Given the description of an element on the screen output the (x, y) to click on. 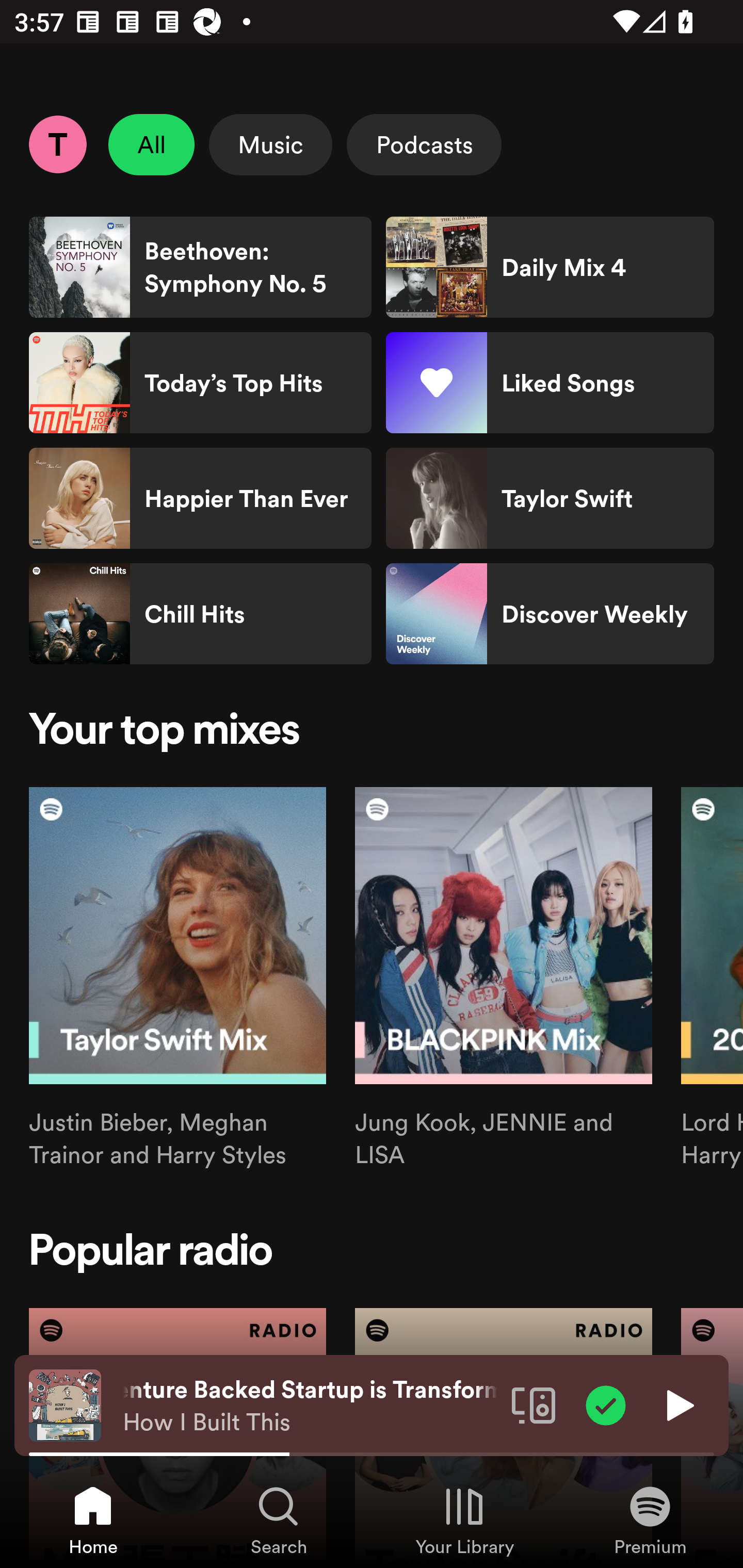
Profile (57, 144)
All Unselect All (151, 144)
Music Select Music (270, 144)
Podcasts Select Podcasts (423, 144)
Daily Mix 4 Shortcut Daily Mix 4 (549, 267)
Today’s Top Hits Shortcut Today’s Top Hits (199, 382)
Liked Songs Shortcut Liked Songs (549, 382)
Happier Than Ever Shortcut Happier Than Ever (199, 498)
Taylor Swift Shortcut Taylor Swift (549, 498)
Chill Hits Shortcut Chill Hits (199, 613)
Discover Weekly Shortcut Discover Weekly (549, 613)
The cover art of the currently playing track (64, 1404)
Connect to a device. Opens the devices menu (533, 1404)
Item added (605, 1404)
Play (677, 1404)
Home, Tab 1 of 4 Home Home (92, 1519)
Search, Tab 2 of 4 Search Search (278, 1519)
Your Library, Tab 3 of 4 Your Library Your Library (464, 1519)
Premium, Tab 4 of 4 Premium Premium (650, 1519)
